Given the description of an element on the screen output the (x, y) to click on. 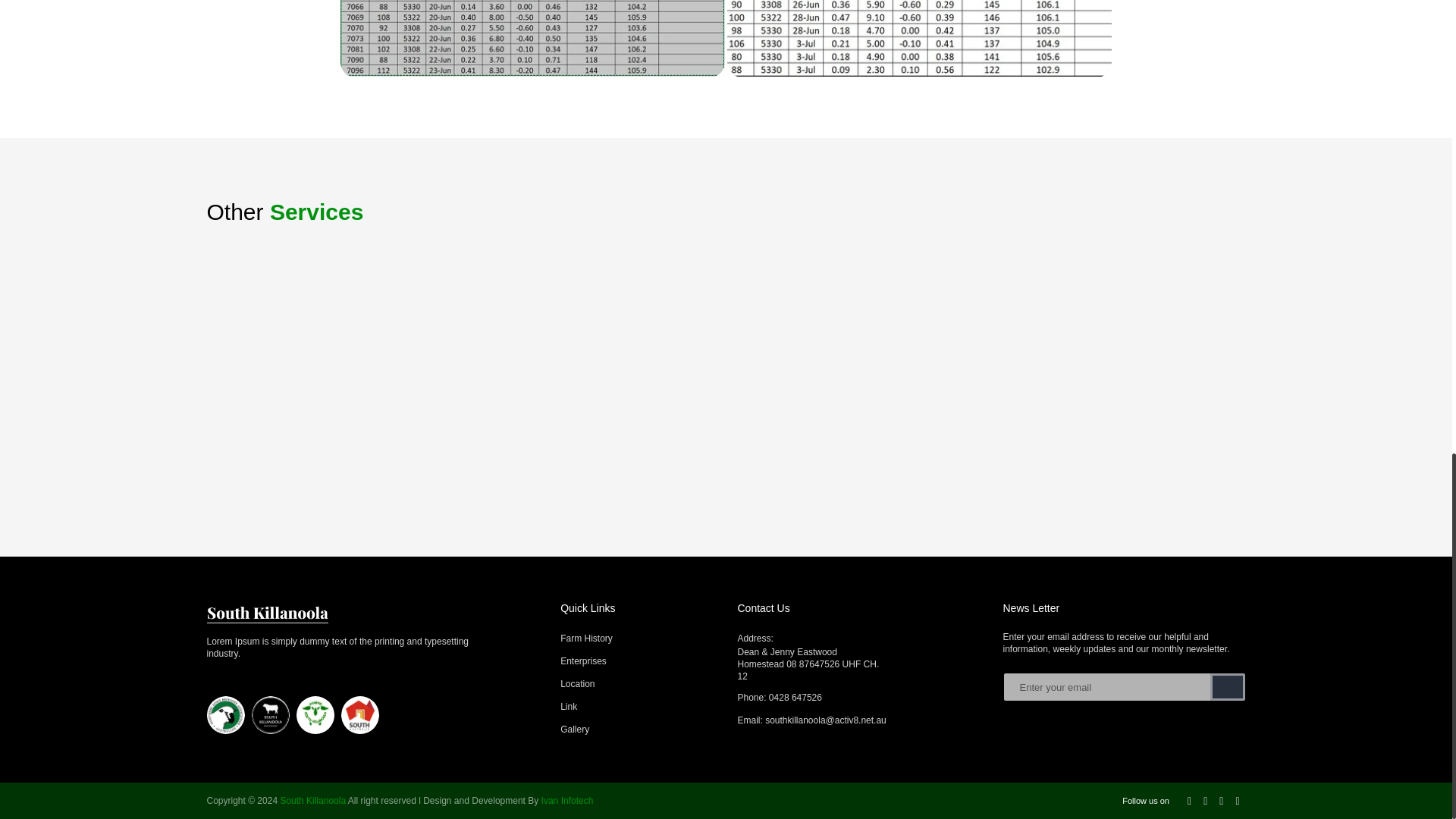
Link (568, 706)
Gallery (574, 729)
Enterprises (583, 661)
Phone: 0428 647526 (857, 697)
South Killanoola (266, 611)
Farm History (586, 638)
Ivan Infotech (567, 800)
Location (577, 684)
South Killanoola (312, 800)
